Given the description of an element on the screen output the (x, y) to click on. 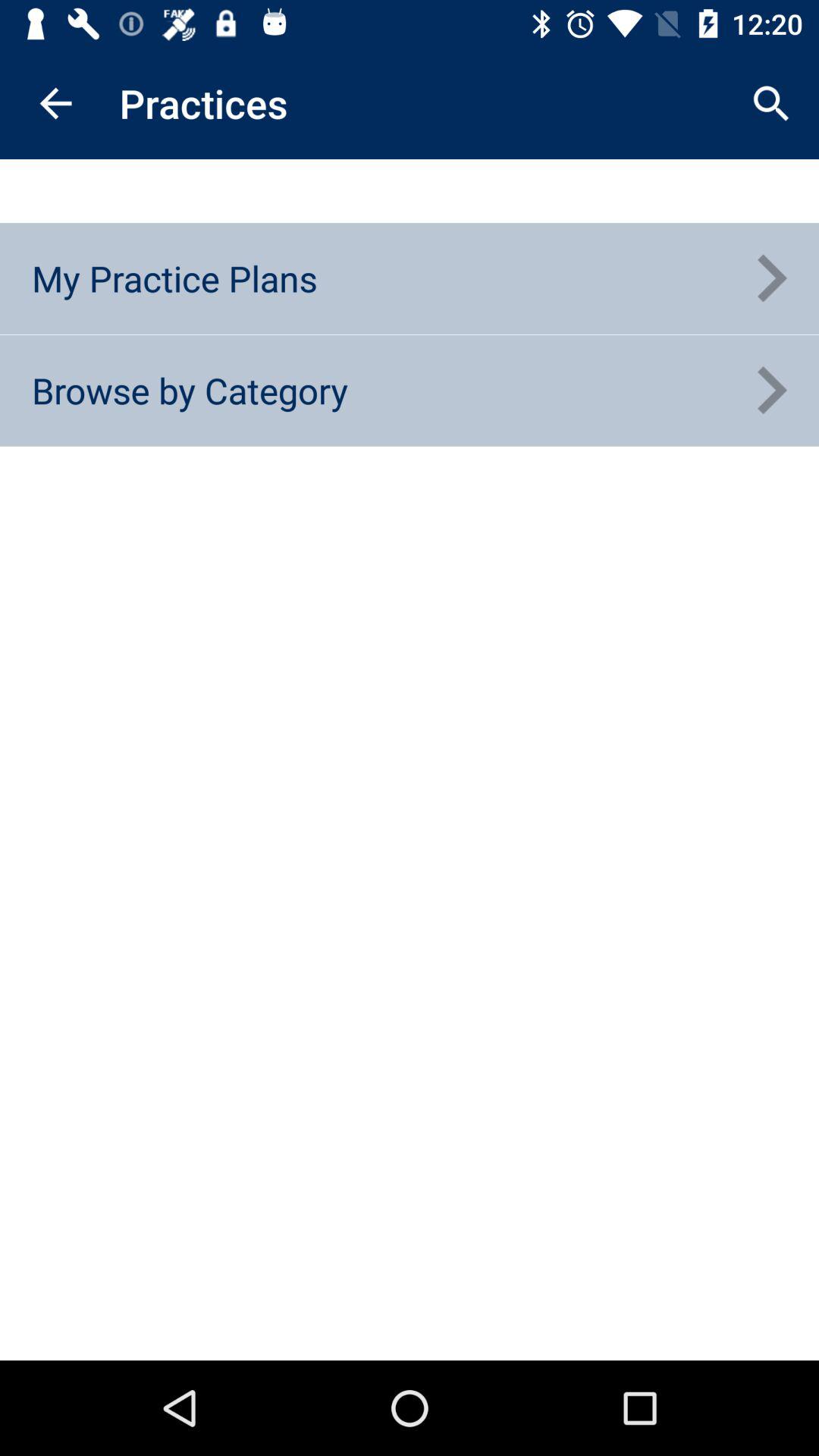
tap the icon above browse by category (174, 278)
